Given the description of an element on the screen output the (x, y) to click on. 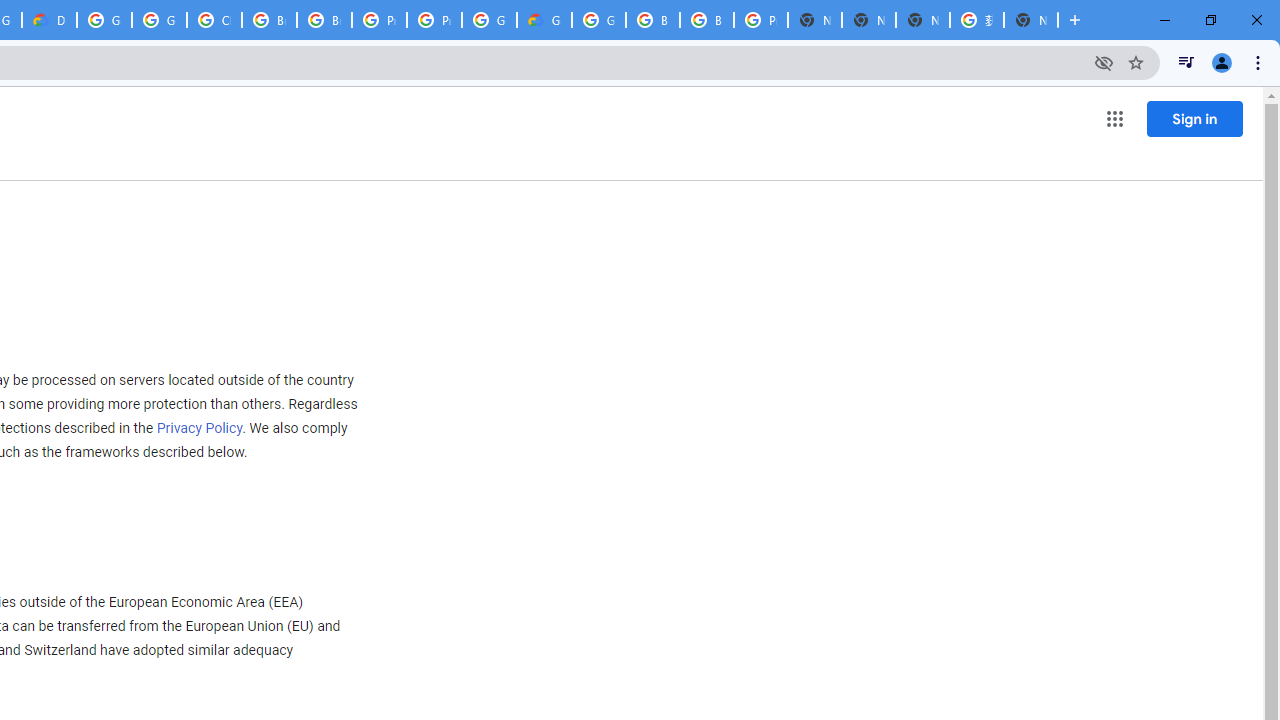
Google Cloud Platform (103, 20)
Google Cloud Estimate Summary (544, 20)
New Tab (1030, 20)
